Given the description of an element on the screen output the (x, y) to click on. 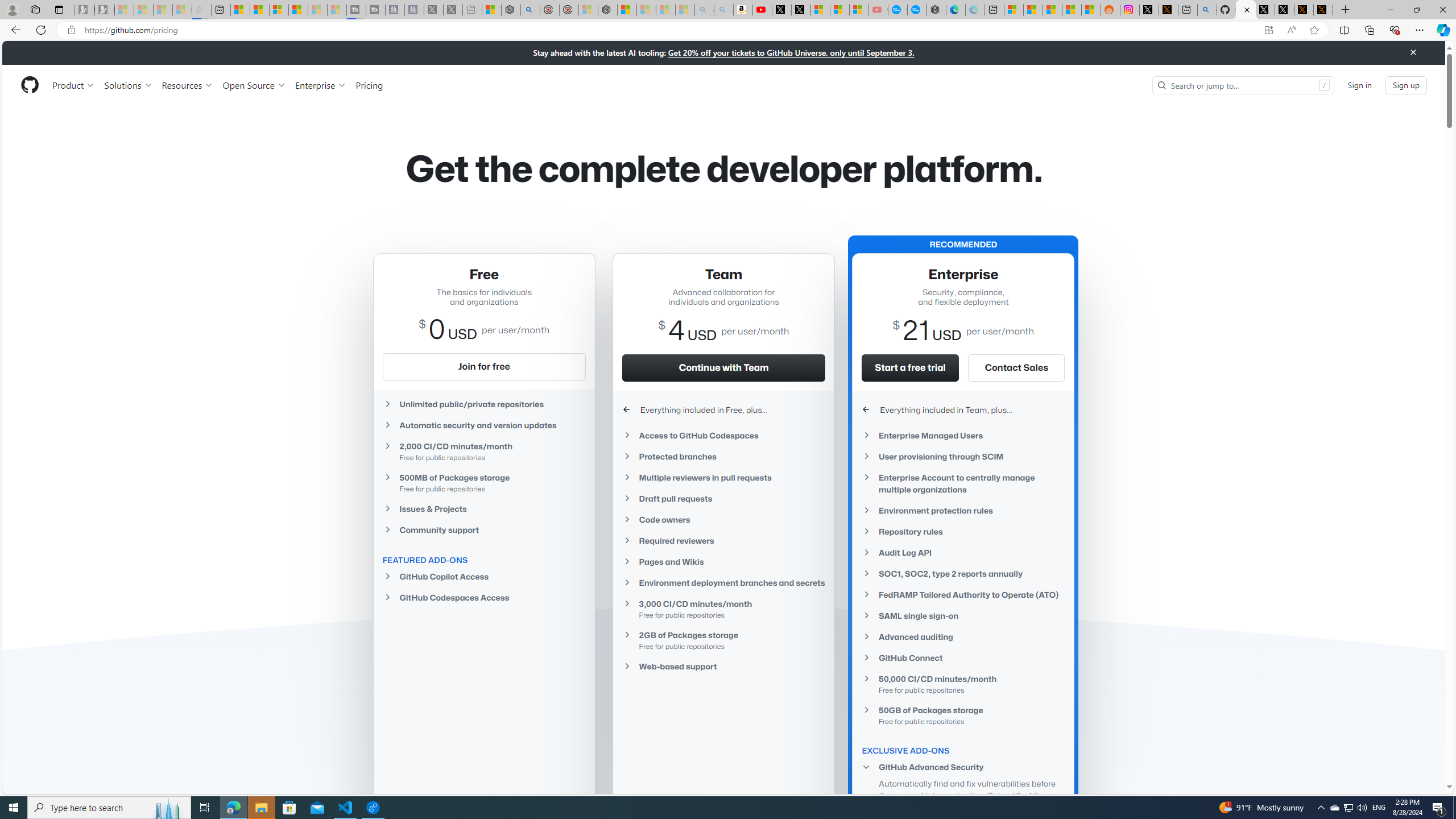
50GB of Packages storageFree for public repositories (963, 714)
Audit Log API (963, 552)
GitHub Connect (963, 658)
Wildlife - MSN (491, 9)
Environment protection rules (963, 510)
3,000 CI/CD minutes/month Free for public repositories (723, 608)
Nordace - Nordace has arrived Hong Kong (935, 9)
Code owners (723, 519)
Environment deployment branches and secrets (723, 582)
GitHub Codespaces Access (483, 597)
